Given the description of an element on the screen output the (x, y) to click on. 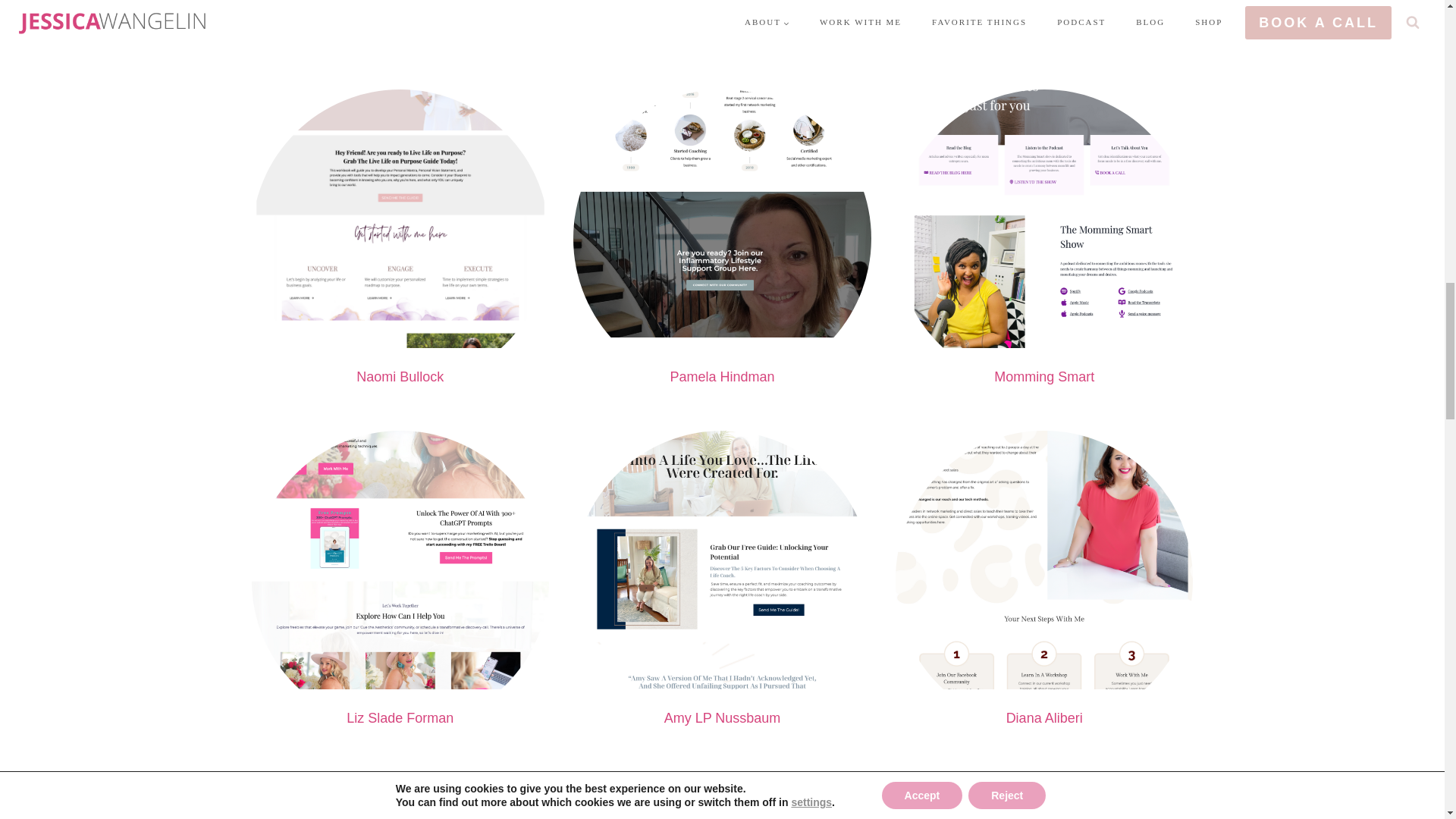
Amy LP Nussbaum (721, 717)
Pamela Hindman (721, 376)
Naomi Bullock (400, 376)
Momming Smart (1044, 376)
Liz Slade Forman (399, 717)
Diana Aliberi (1044, 717)
